Given the description of an element on the screen output the (x, y) to click on. 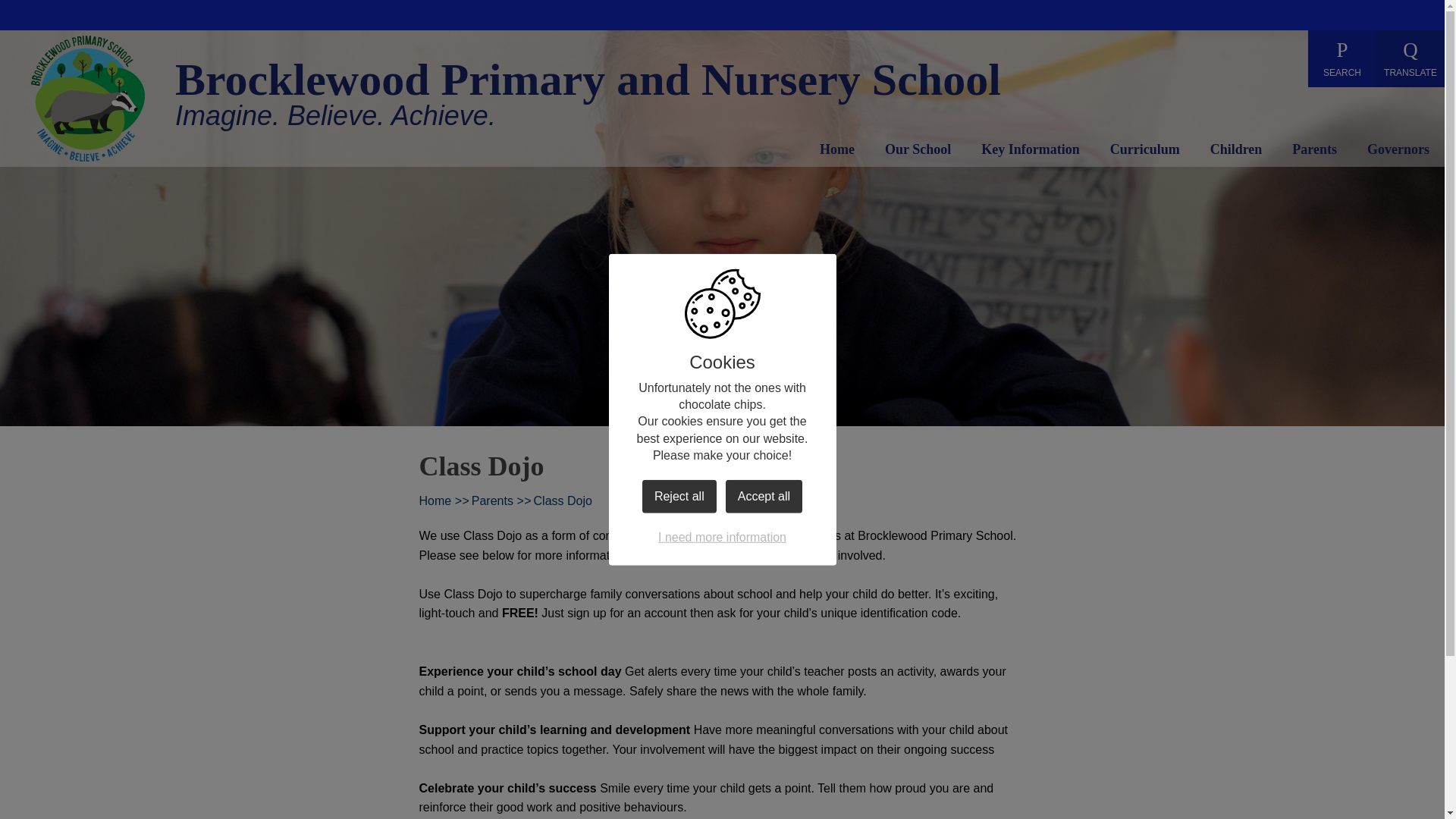
Curriculum (1144, 152)
Our School (917, 152)
Children (1235, 152)
Key Information (1030, 152)
Home Page (87, 98)
Home (836, 152)
